Given the description of an element on the screen output the (x, y) to click on. 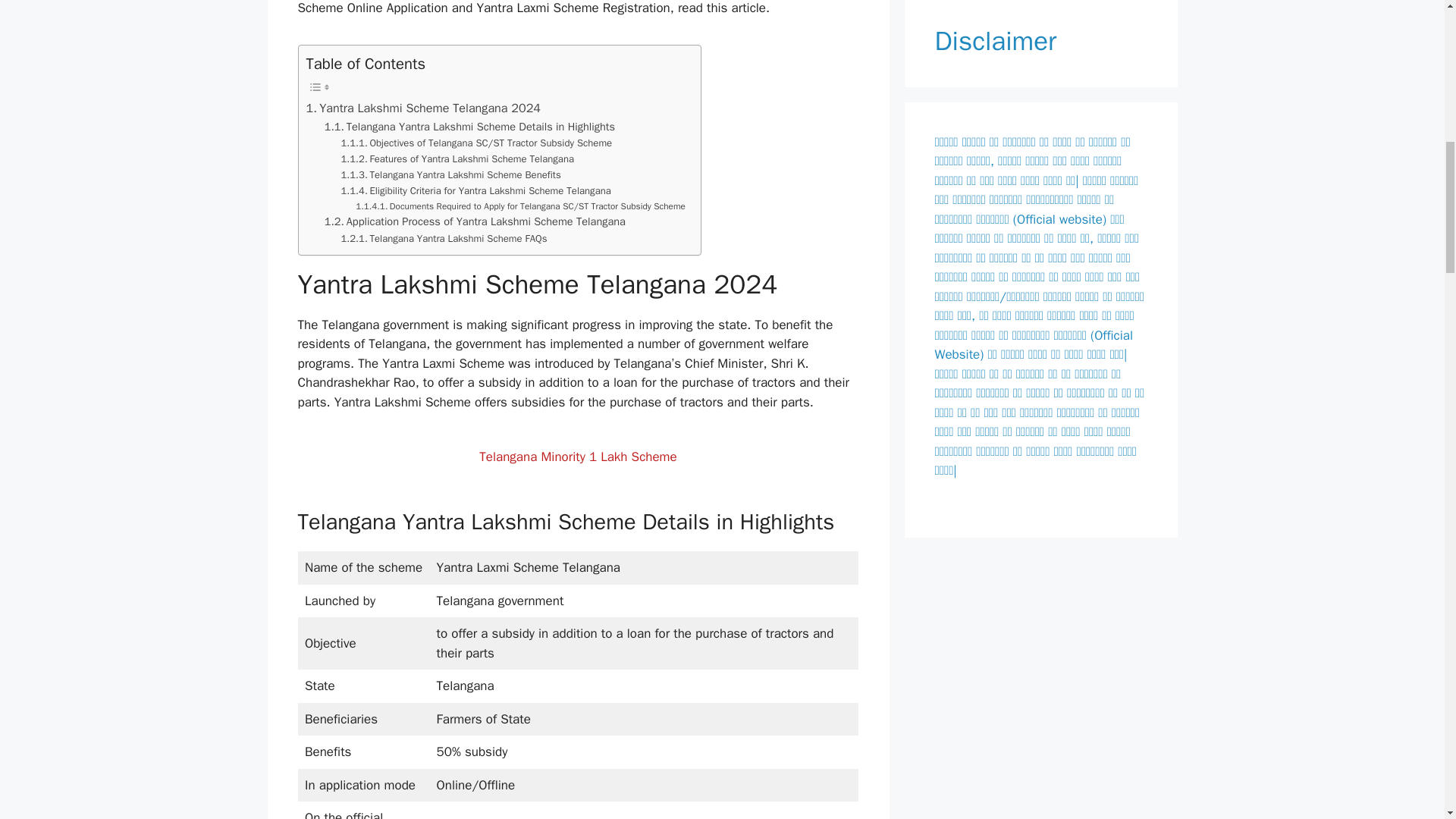
Telangana Yantra Lakshmi Scheme Benefits (450, 175)
Application Process of Yantra Lakshmi Scheme Telangana (475, 221)
Telangana Yantra Lakshmi Scheme Details in Highlights (469, 126)
Eligibility Criteria for Yantra Lakshmi Scheme Telangana (475, 191)
Features of Yantra Lakshmi Scheme Telangana (456, 159)
Telangana Yantra Lakshmi Scheme FAQs (443, 238)
Yantra Lakshmi Scheme Telangana 2024 (423, 107)
Telangana Yantra Lakshmi Scheme Details in Highlights (469, 126)
Telangana Minority 1 Lakh Scheme (578, 456)
Telangana Yantra Lakshmi Scheme Benefits  (450, 175)
Eligibility Criteria for Yantra Lakshmi Scheme Telangana (475, 191)
Telangana Yantra Lakshmi Scheme FAQs (443, 238)
Application Process of Yantra Lakshmi Scheme Telangana (475, 221)
Yantra Lakshmi Scheme Telangana 2024 (423, 107)
Features of Yantra Lakshmi Scheme Telangana (456, 159)
